Given the description of an element on the screen output the (x, y) to click on. 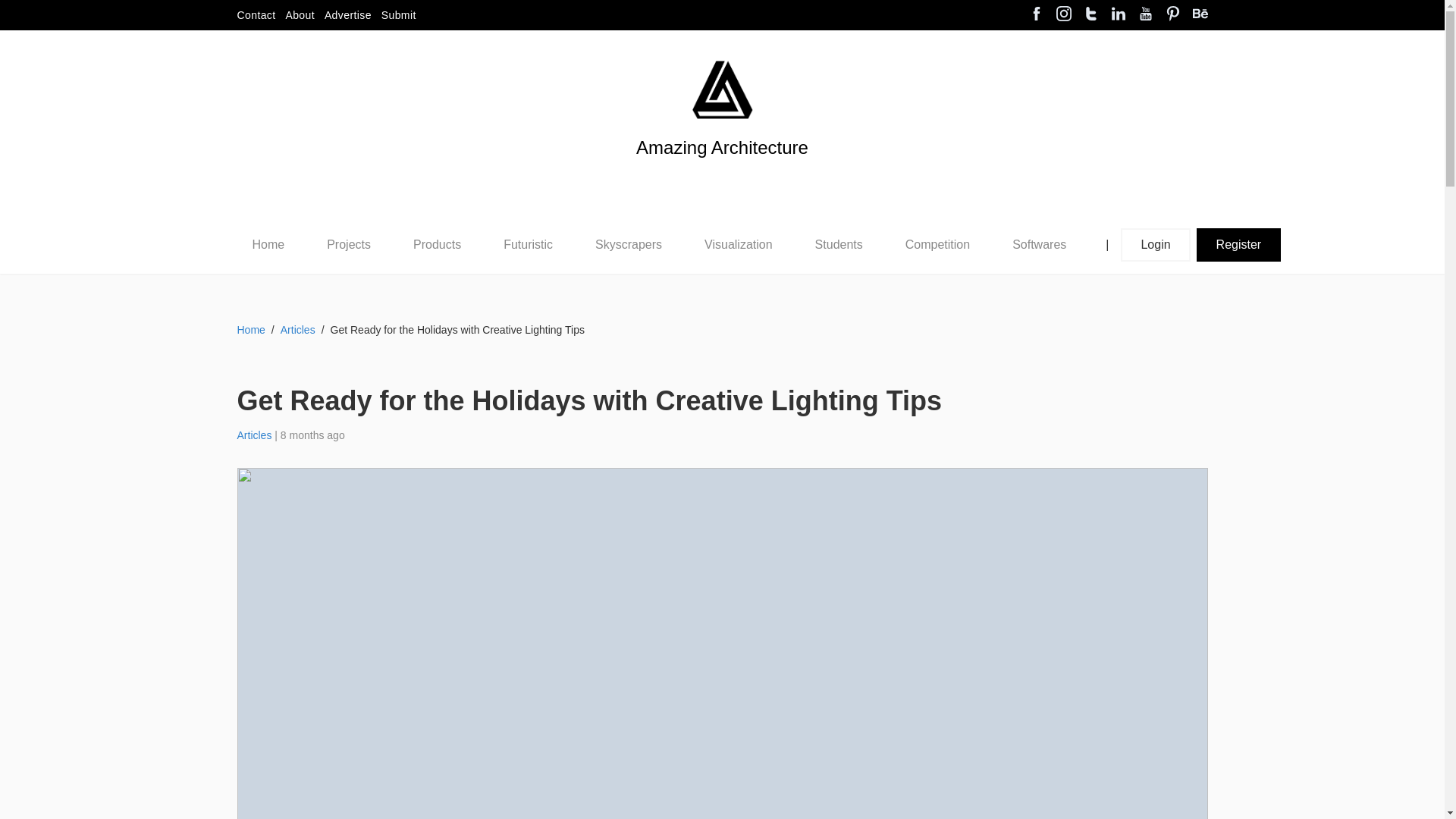
Advertisement page (347, 15)
Projects (348, 245)
Submit page (398, 15)
Skyscrapers (628, 244)
Contact us page (255, 15)
Contact (255, 15)
Home (267, 244)
Advertise (347, 15)
Projects (348, 244)
Visualization (738, 244)
